Given the description of an element on the screen output the (x, y) to click on. 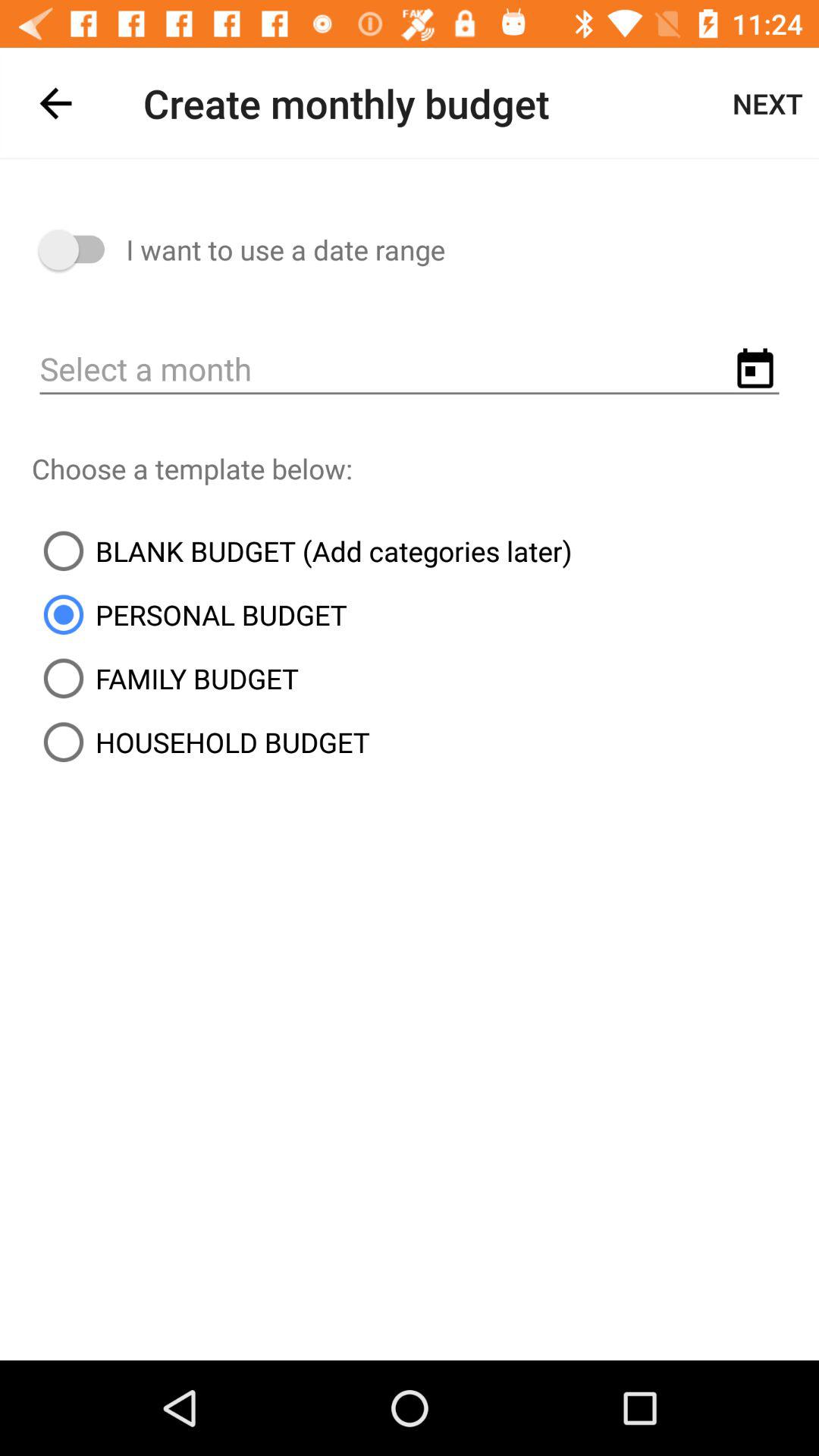
open personal budget icon (188, 614)
